Given the description of an element on the screen output the (x, y) to click on. 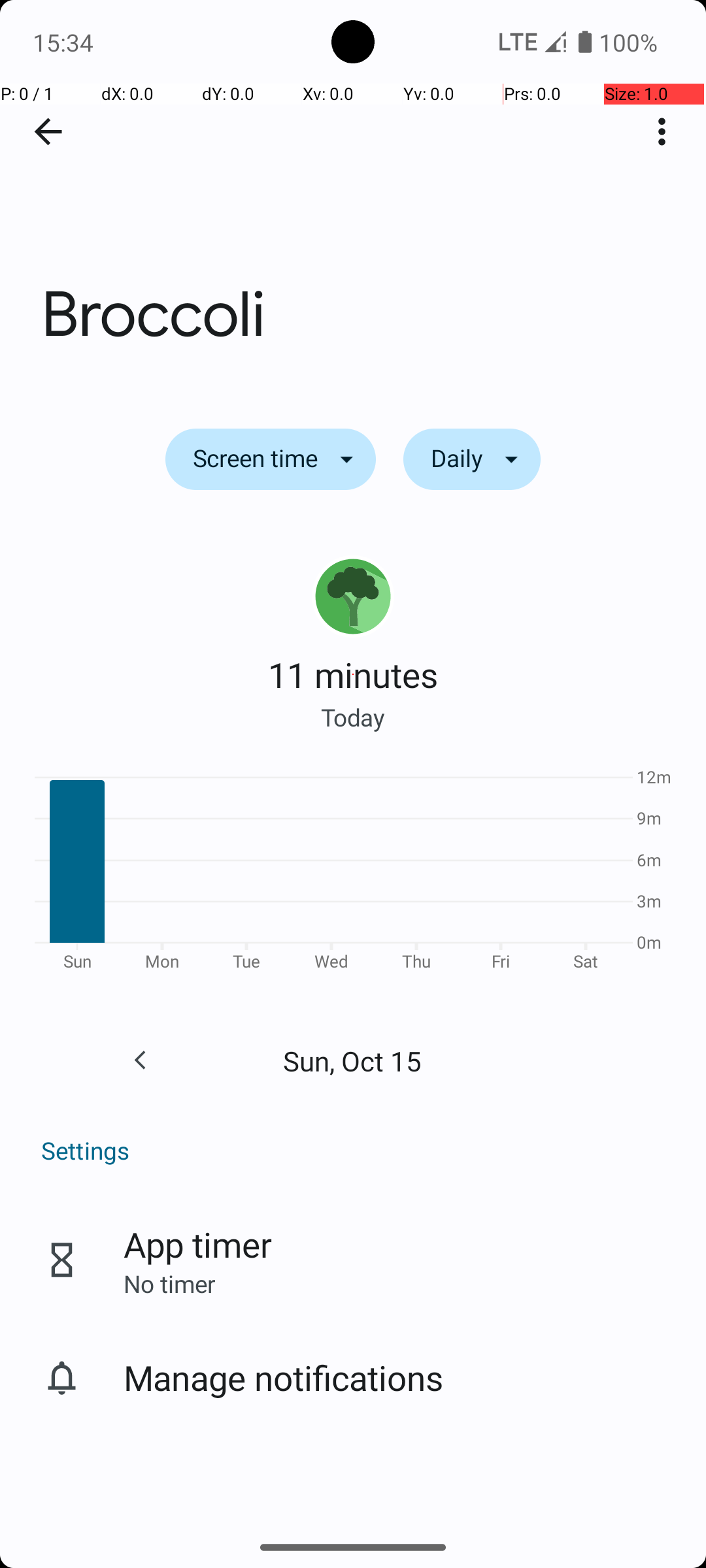
11 minutes Element type: android.widget.TextView (353, 674)
App timer Element type: android.widget.TextView (197, 1244)
No timer Element type: android.widget.TextView (169, 1283)
Manage notifications Element type: android.widget.TextView (283, 1377)
